Given the description of an element on the screen output the (x, y) to click on. 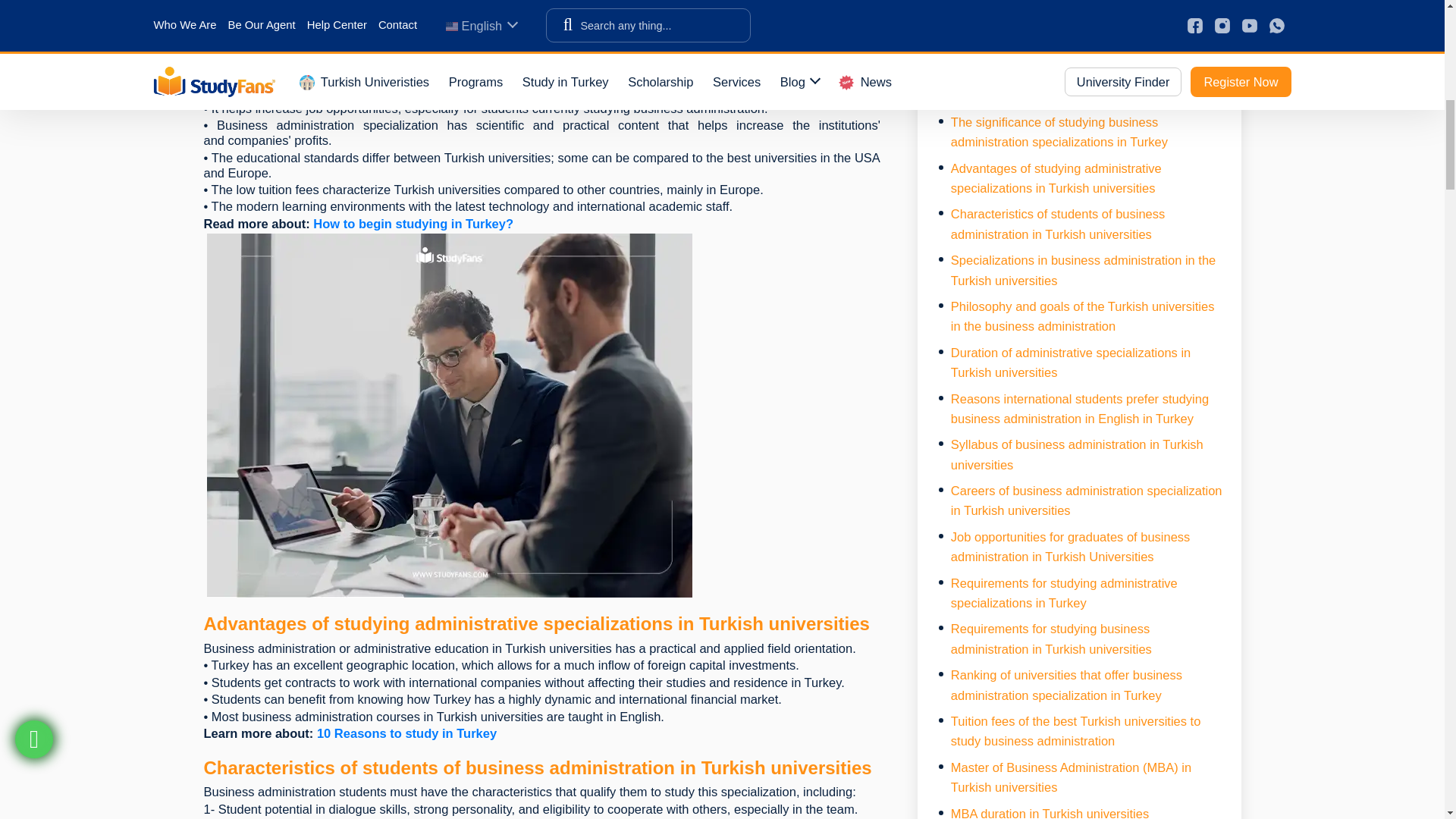
How to begin studying in Turkey? (413, 223)
10 Reasons to study in Turkey (406, 733)
